Given the description of an element on the screen output the (x, y) to click on. 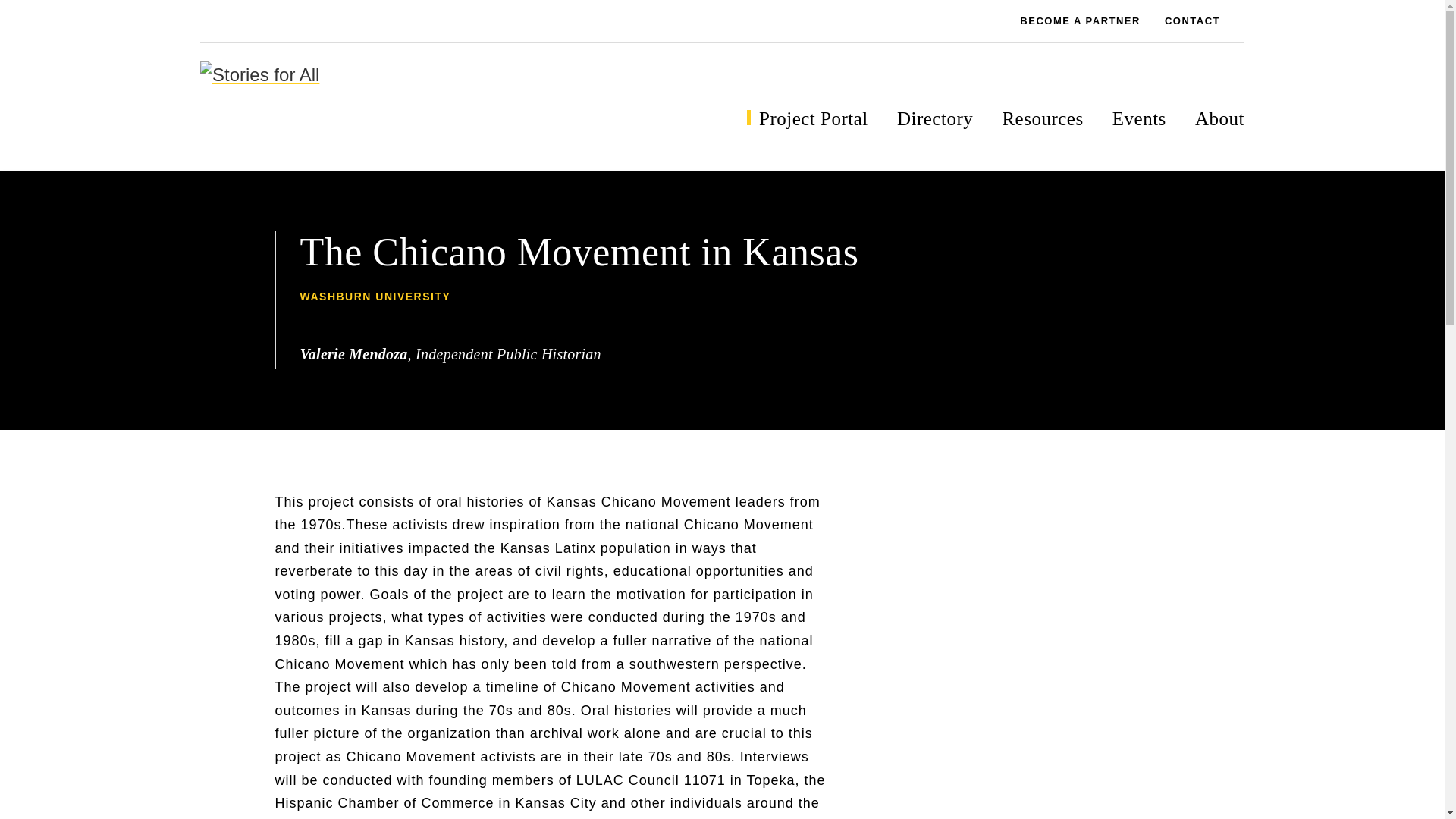
WASHBURN UNIVERSITY (376, 295)
Events (1139, 118)
Project Portal (812, 118)
BECOME A PARTNER (1072, 21)
About (1219, 118)
Stories for All (374, 103)
CONTACT (1192, 21)
Resources (1042, 118)
Washburn University (376, 295)
Directory (934, 118)
